Given the description of an element on the screen output the (x, y) to click on. 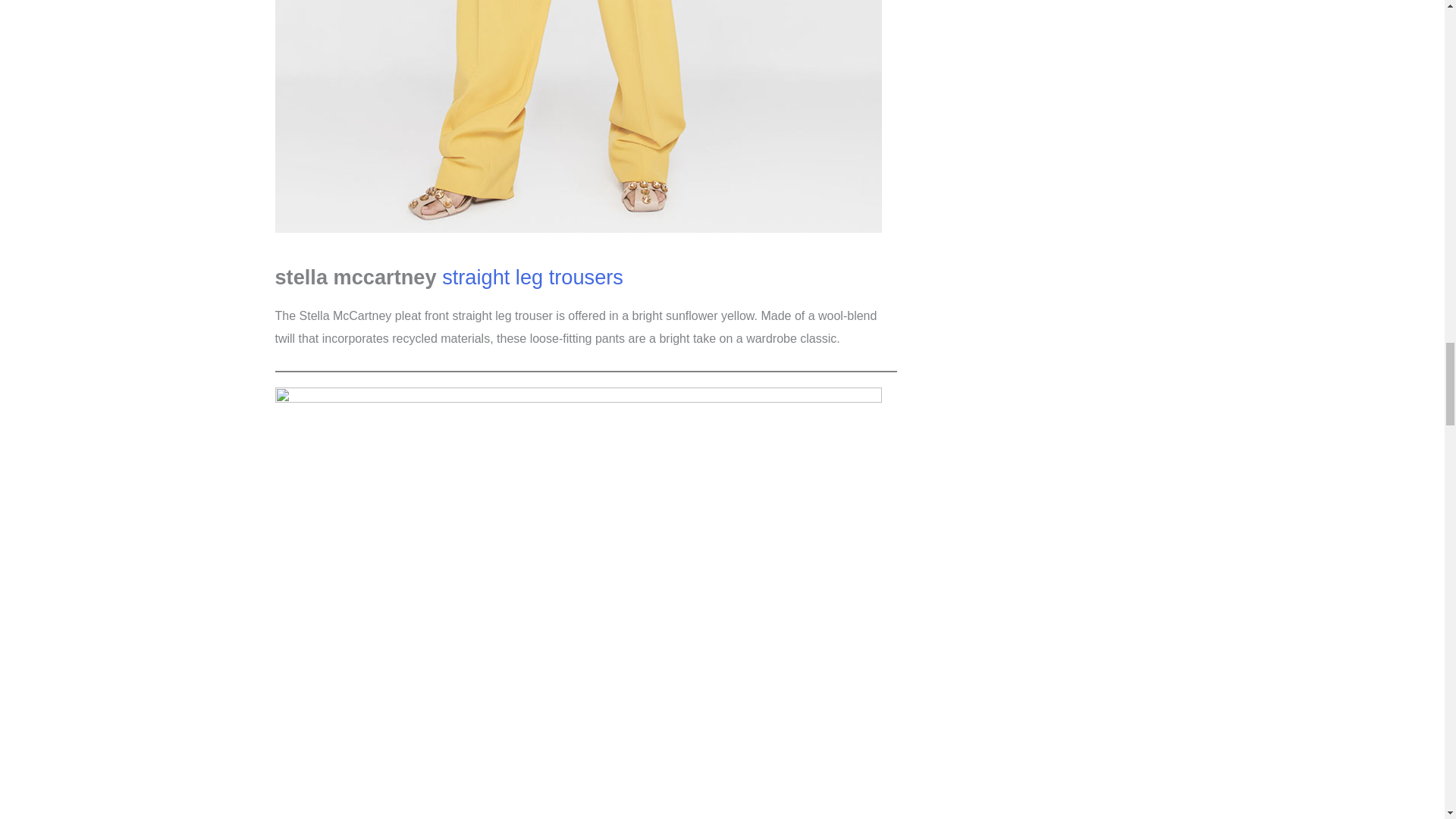
straight leg trousers (532, 277)
